Given the description of an element on the screen output the (x, y) to click on. 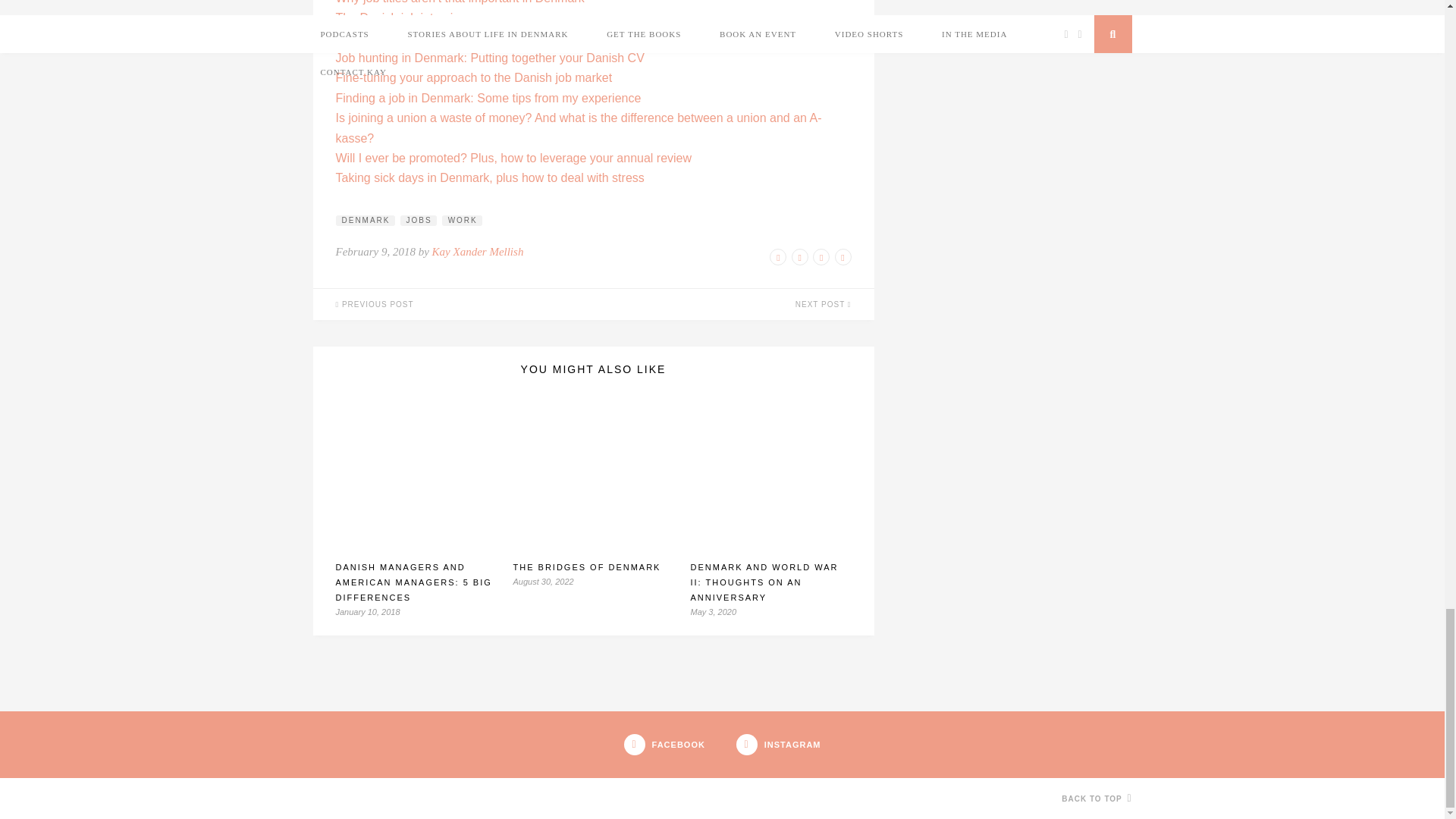
Posts by Kay Xander Mellish (478, 251)
